Given the description of an element on the screen output the (x, y) to click on. 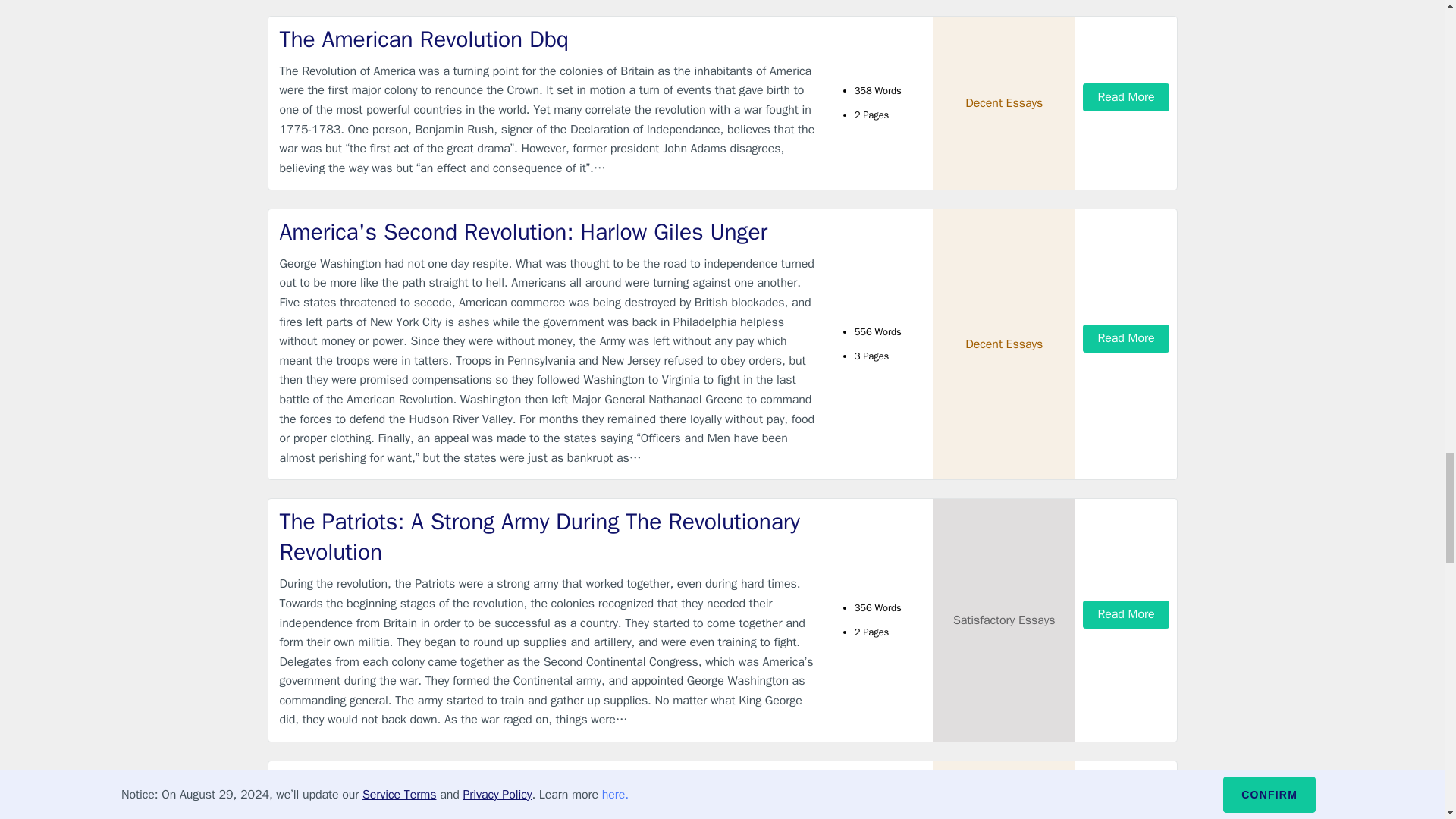
The American Revolution Dbq (548, 39)
